Given the description of an element on the screen output the (x, y) to click on. 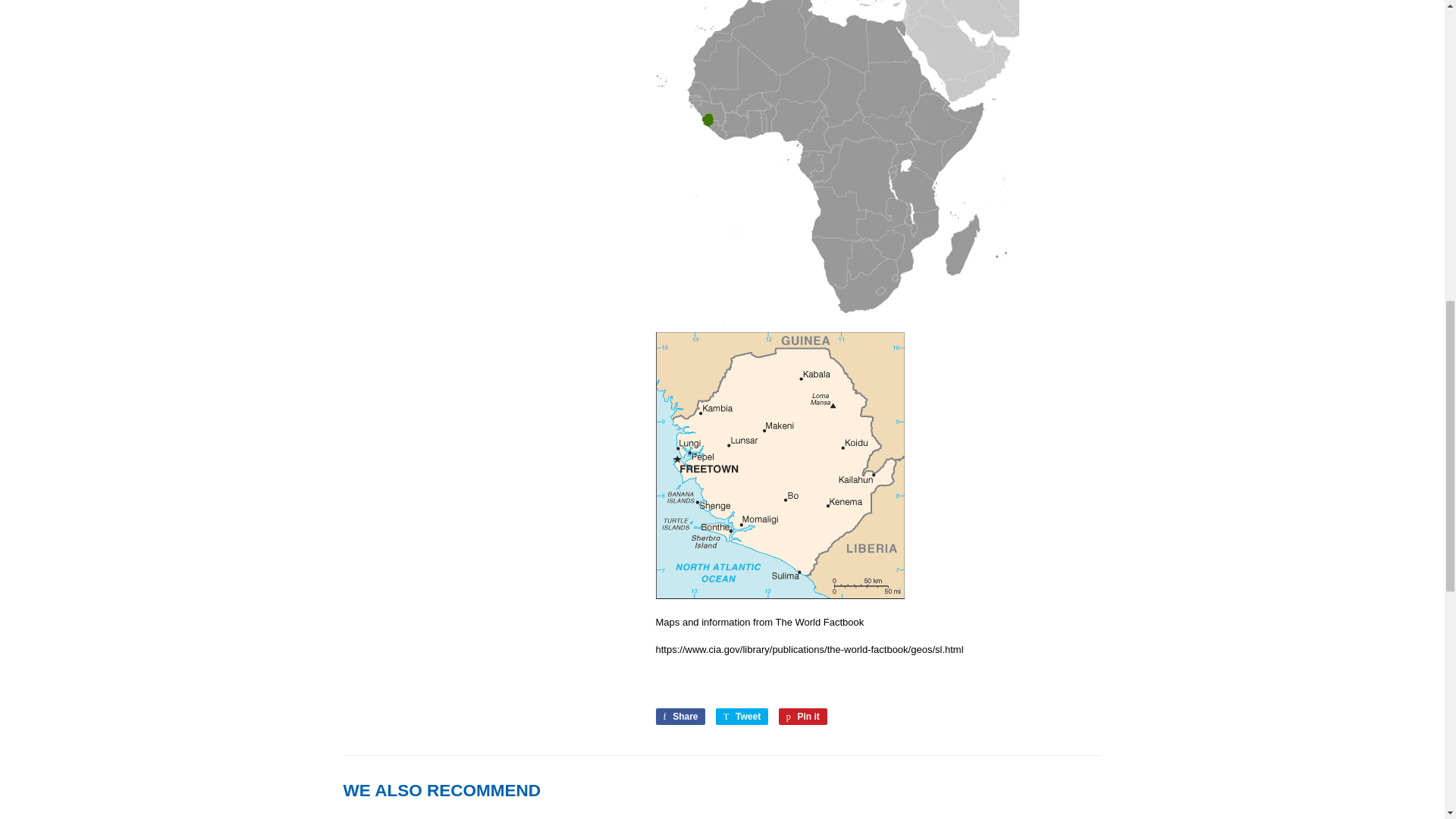
Pin on Pinterest (802, 716)
Tweet on Twitter (679, 716)
Share on Facebook (802, 716)
